Given the description of an element on the screen output the (x, y) to click on. 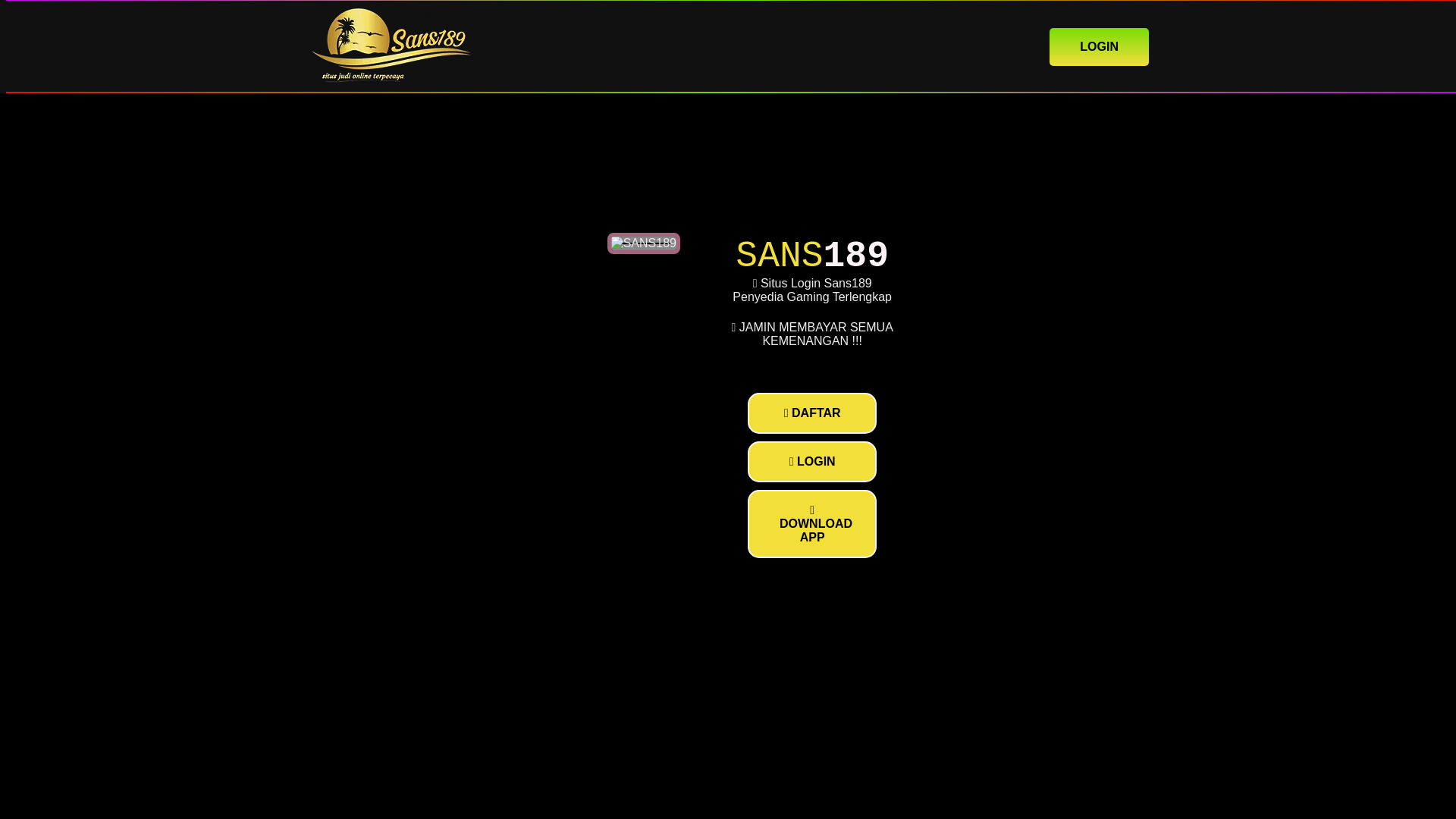
LOGIN (812, 461)
DAFTAR (812, 413)
DOWNLOAD APP (812, 523)
LOGIN (1098, 46)
